Given the description of an element on the screen output the (x, y) to click on. 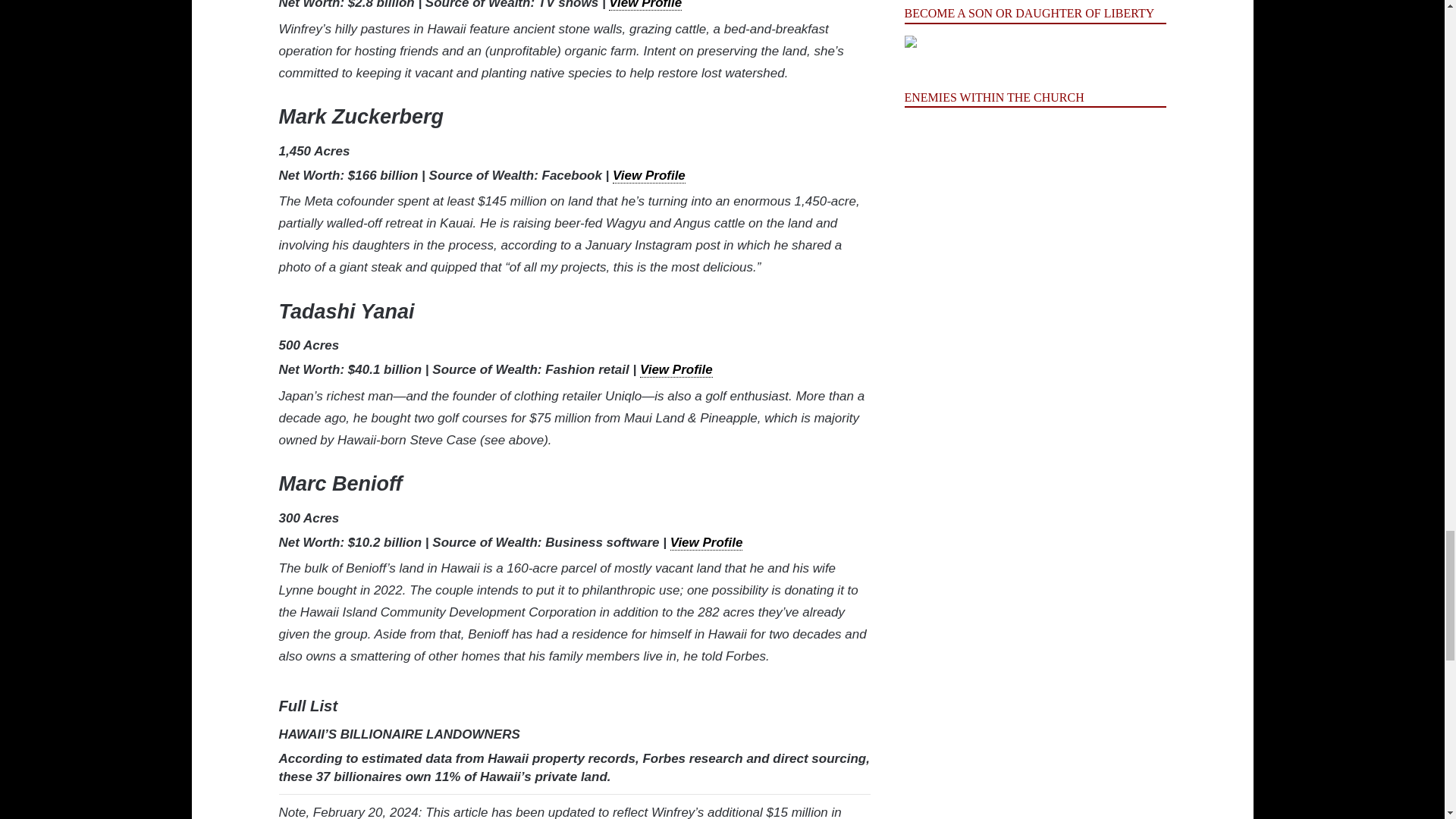
View Profile (644, 5)
